Given the description of an element on the screen output the (x, y) to click on. 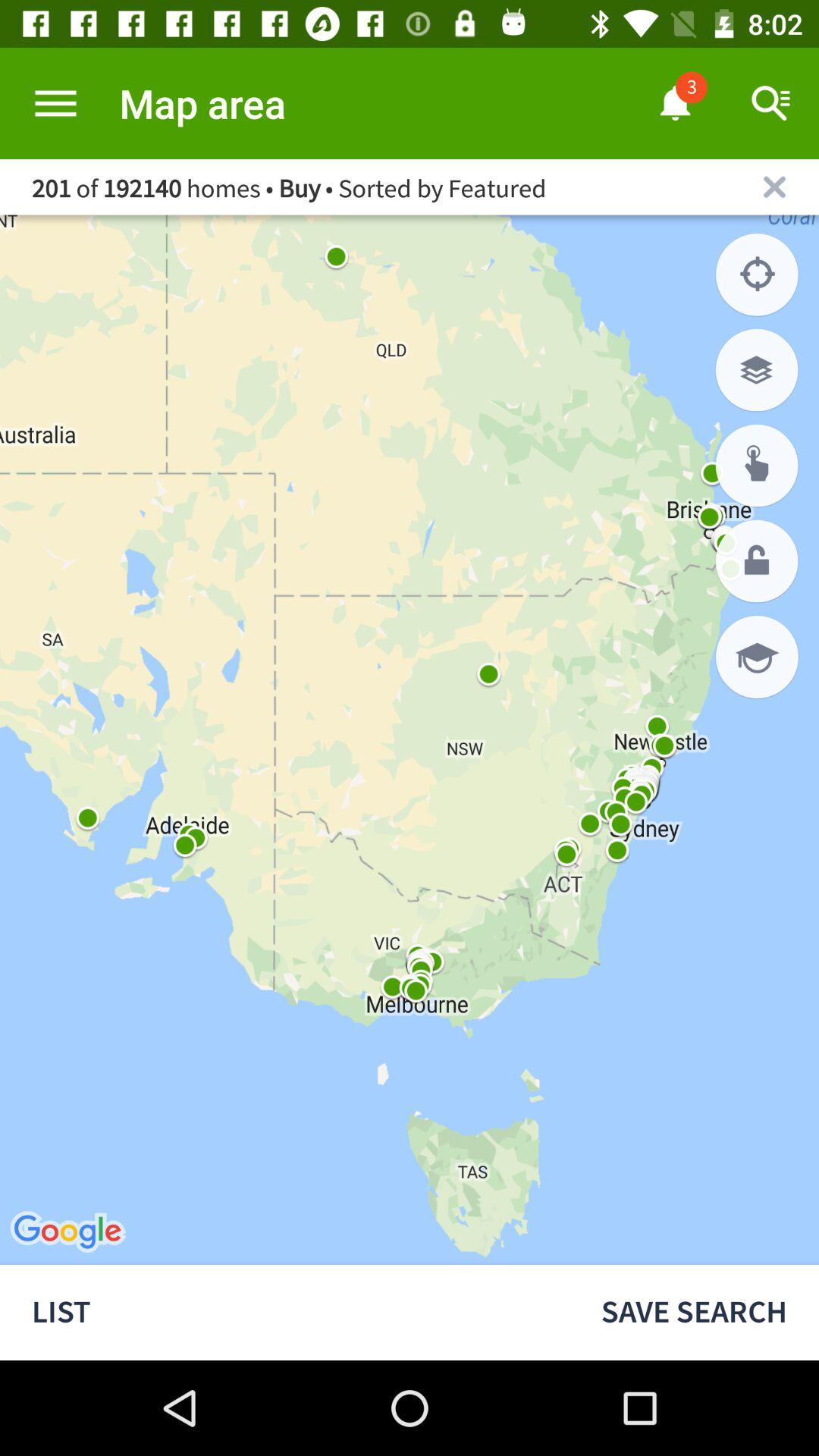
flip to the save search (694, 1312)
